Given the description of an element on the screen output the (x, y) to click on. 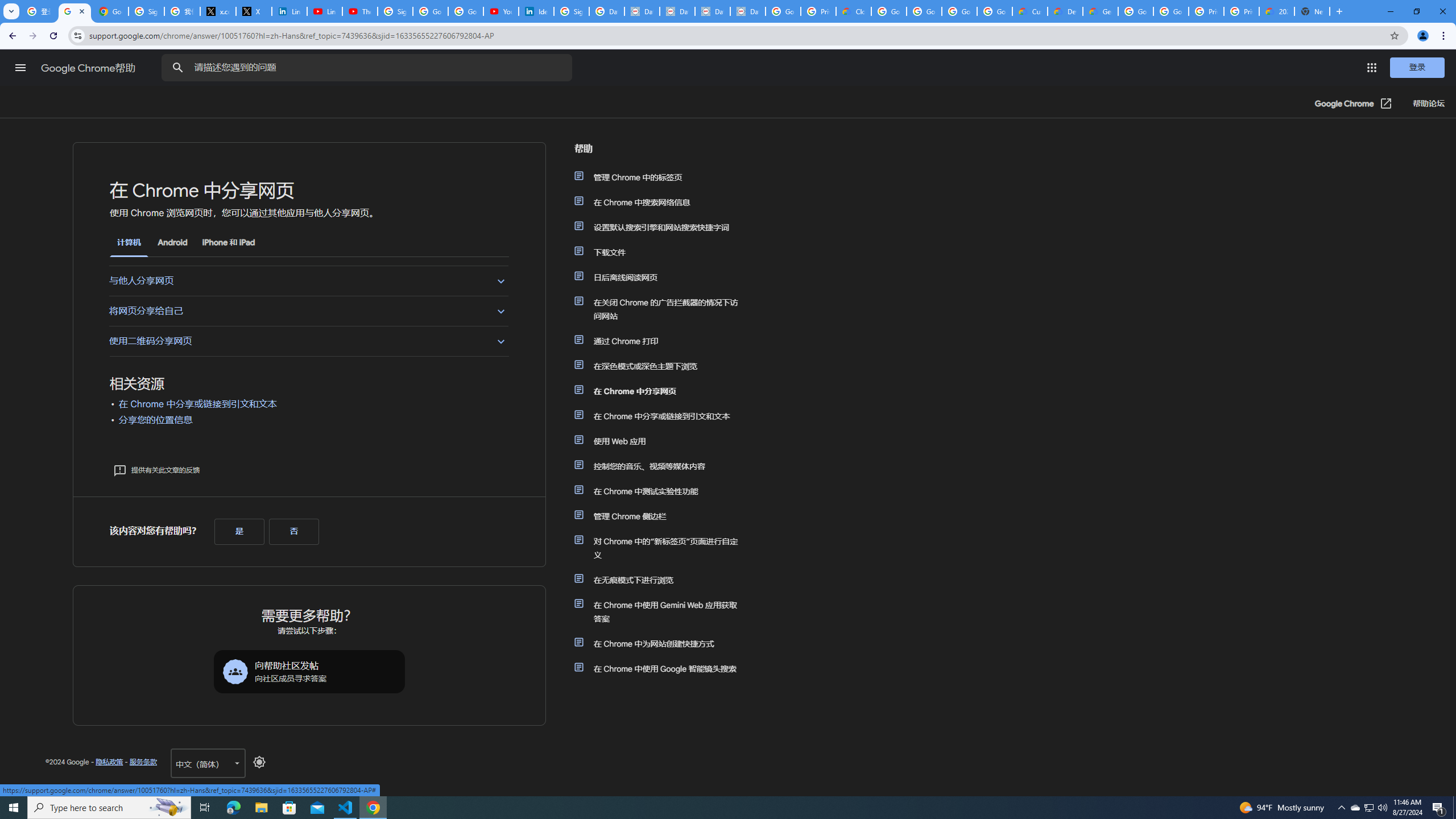
Google Cloud Platform (1135, 11)
Google Cloud Platform (1170, 11)
New Tab (1312, 11)
LinkedIn - YouTube (324, 11)
Data Privacy Framework (747, 11)
